Given the description of an element on the screen output the (x, y) to click on. 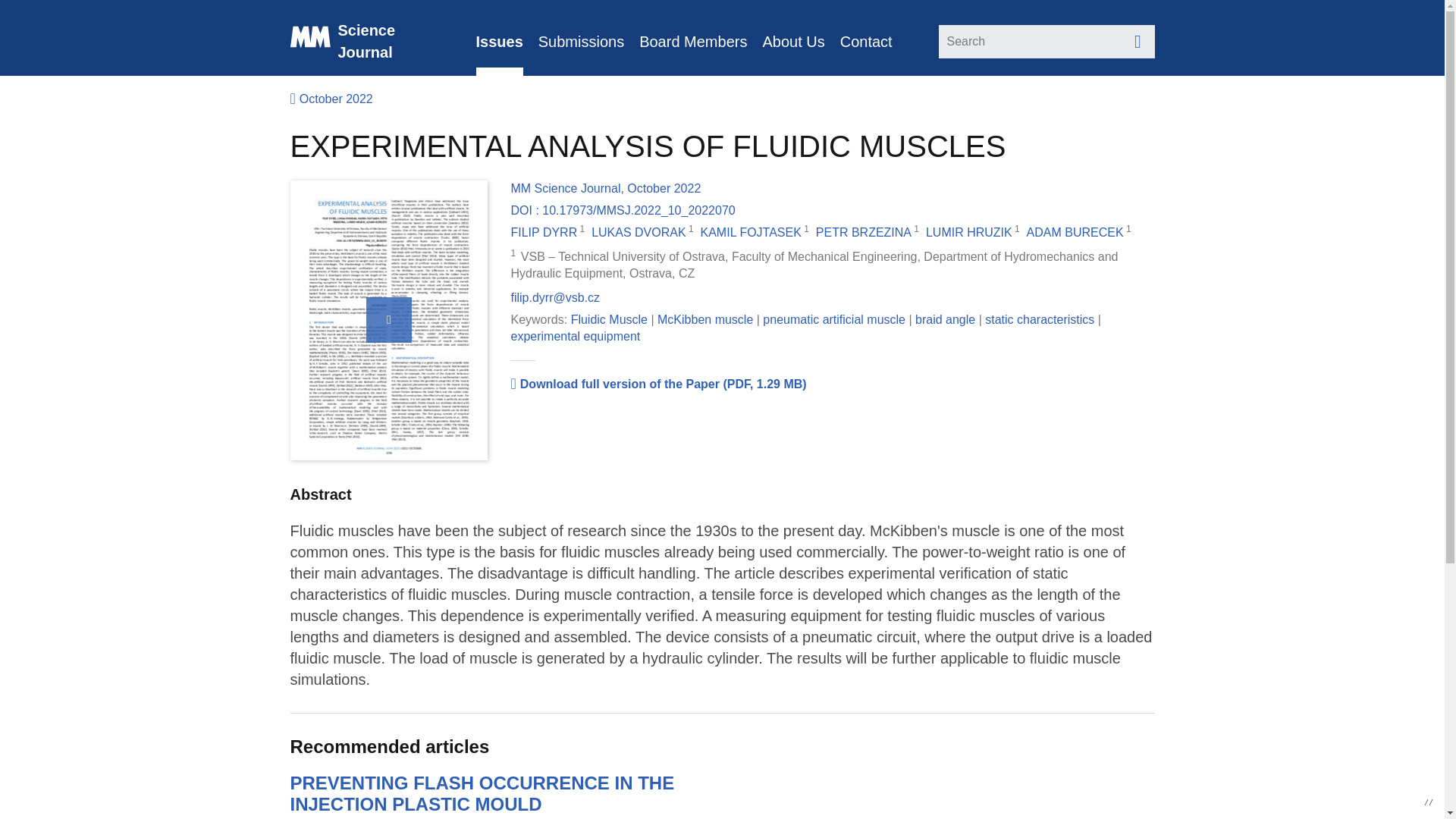
FILIP DYRR (543, 232)
LUKAS DVORAK (638, 232)
Board Members (692, 38)
experimental equipment (575, 336)
Fluidic Muscle (608, 318)
static characteristics (1039, 318)
October 2022 (330, 98)
ADAM BURECEK (1075, 232)
Submissions (581, 38)
MM Science Journal (368, 38)
McKibben muscle (705, 318)
MM Science Journal, October 2022 (605, 187)
PREVENTING FLASH OCCURRENCE IN THE INJECTION PLASTIC MOULD (481, 793)
KAMIL FOJTASEK (751, 232)
PETR BRZEZINA (863, 232)
